Given the description of an element on the screen output the (x, y) to click on. 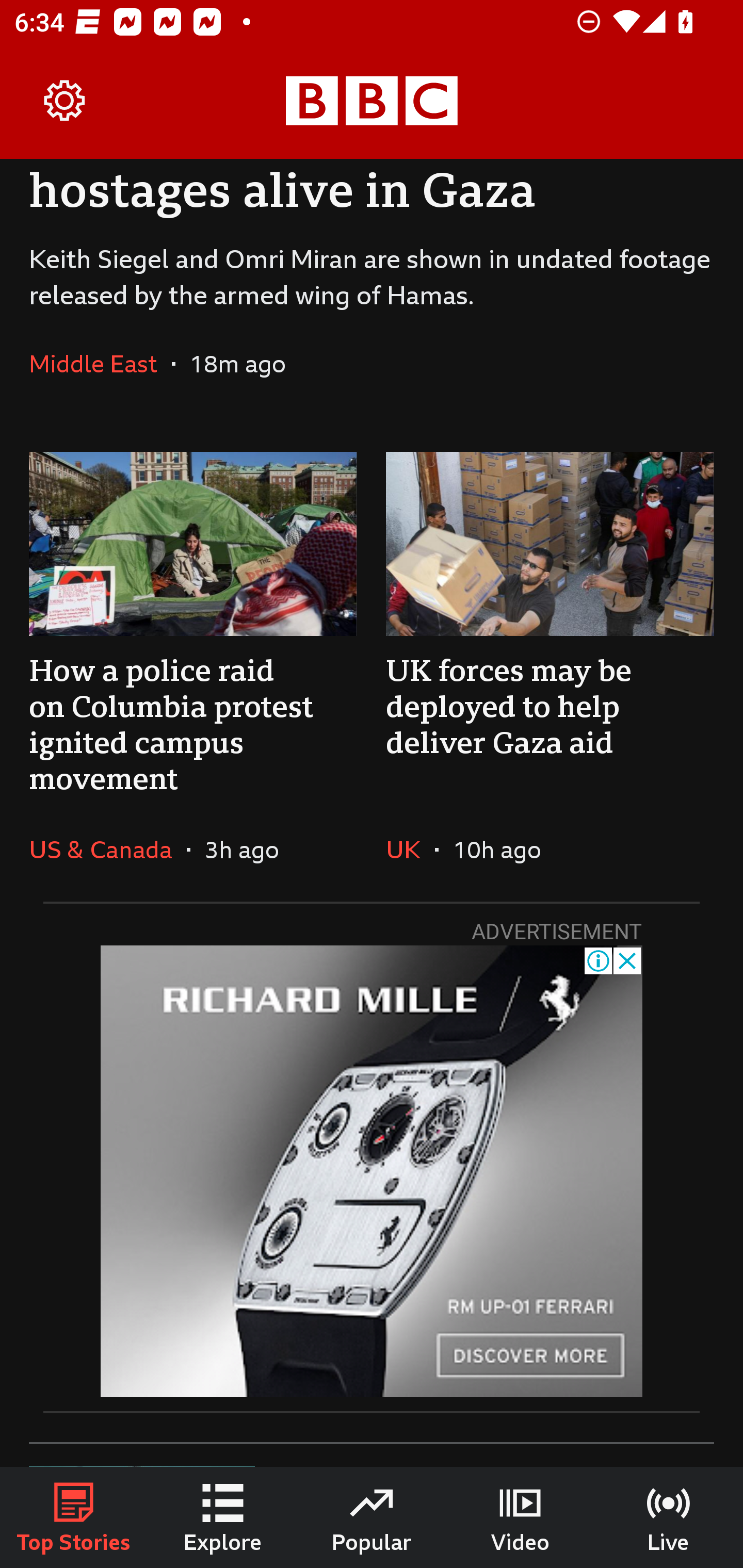
Settings (64, 100)
Middle East In the section Middle East (99, 363)
US & Canada In the section US & Canada (107, 849)
UK In the section UK (409, 849)
Explore (222, 1517)
Popular (371, 1517)
Video (519, 1517)
Live (668, 1517)
